Given the description of an element on the screen output the (x, y) to click on. 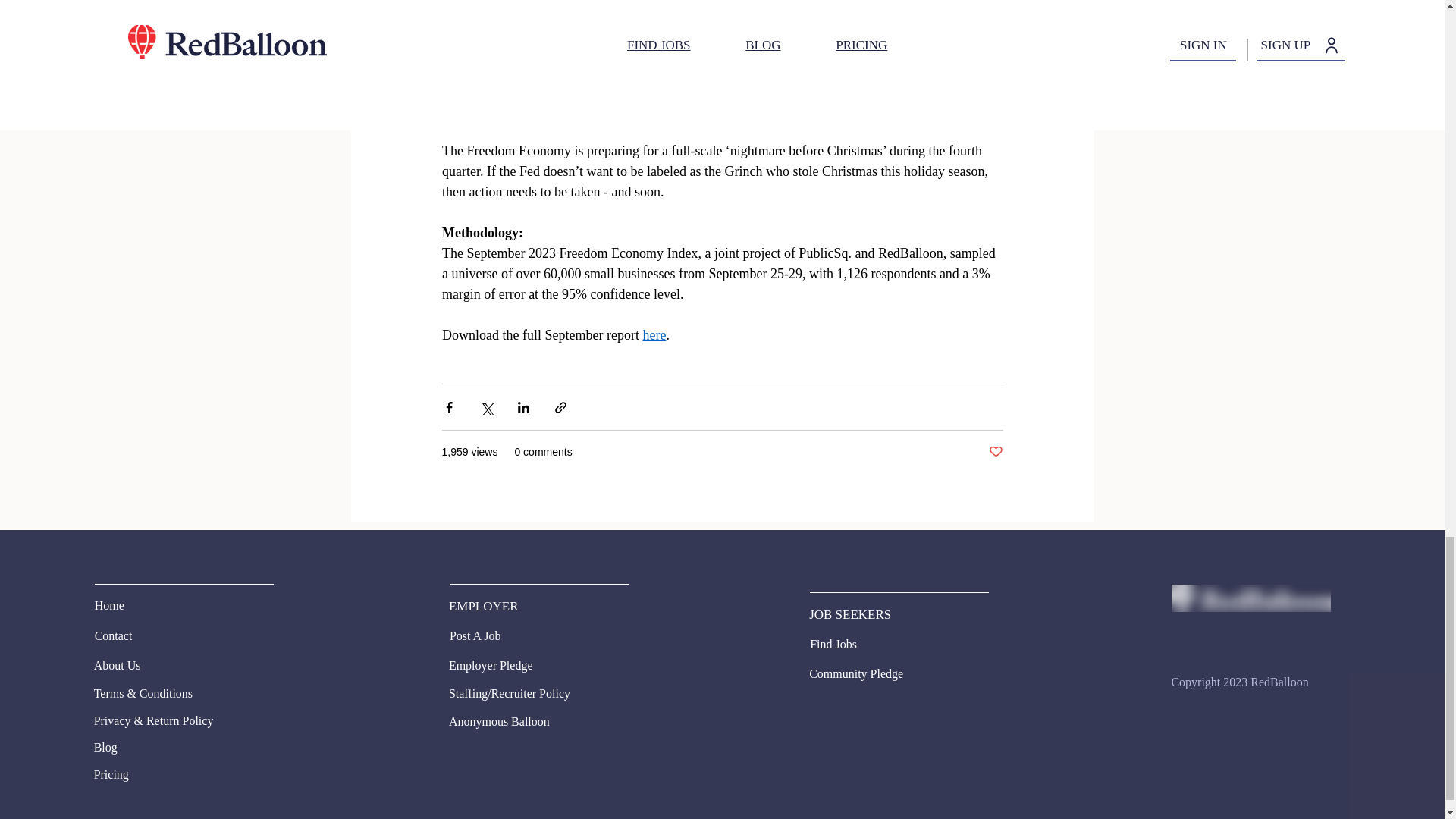
Pricing (178, 774)
here (653, 335)
Contact (132, 636)
Post not marked as liked (995, 452)
Find Jobs (847, 644)
Post A Job (488, 636)
About Us (148, 665)
Employer Pledge (503, 665)
Community Pledge (863, 673)
Anonymous Balloon (532, 721)
